Given the description of an element on the screen output the (x, y) to click on. 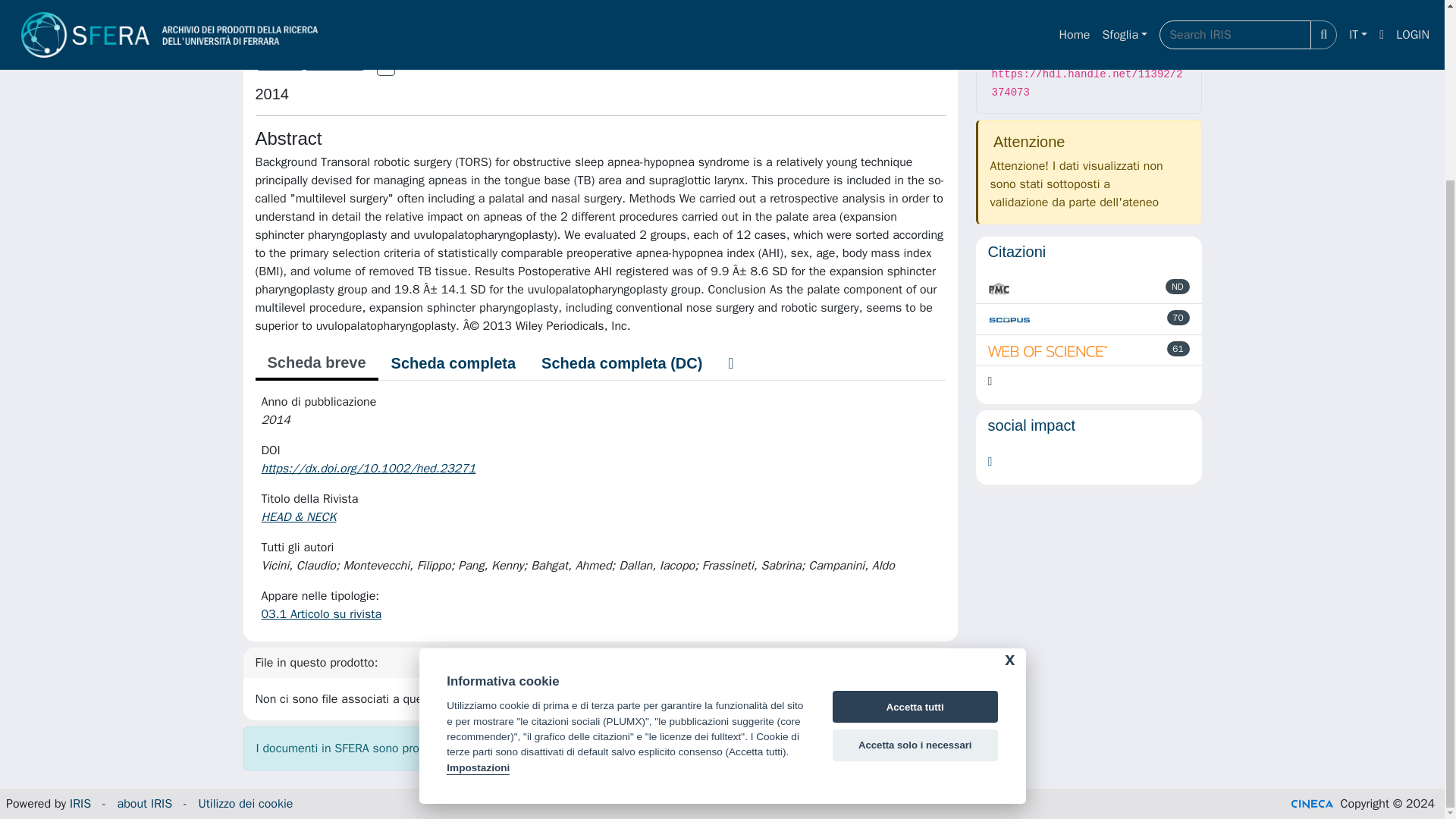
aggiornato in data 13-08-2024 17:56 (1178, 317)
VICINI, Claudio (309, 62)
03.1 Articolo su rivista (320, 613)
Scheda breve (315, 363)
Scheda completa (453, 363)
